Given the description of an element on the screen output the (x, y) to click on. 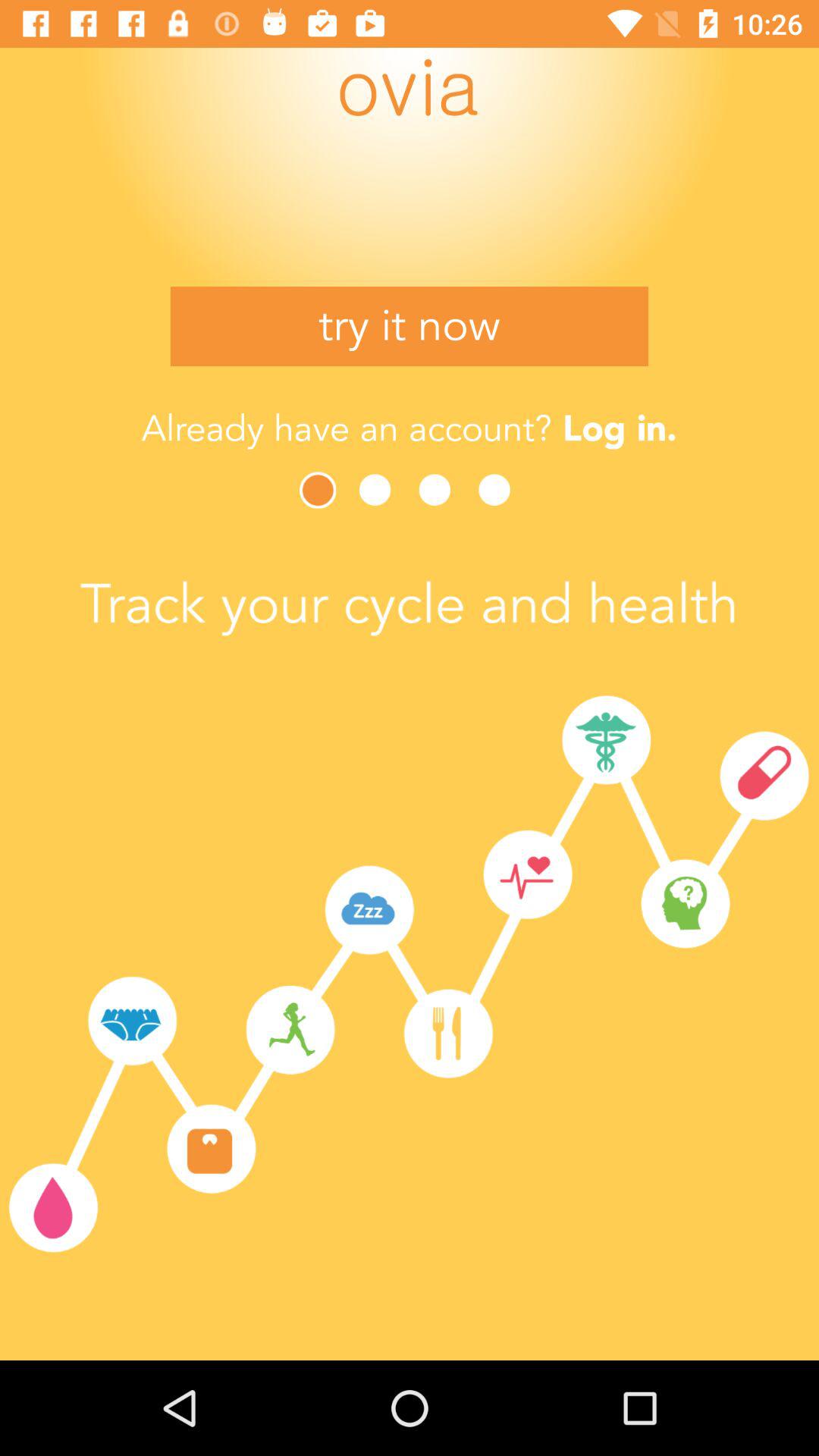
go to option (379, 490)
